Given the description of an element on the screen output the (x, y) to click on. 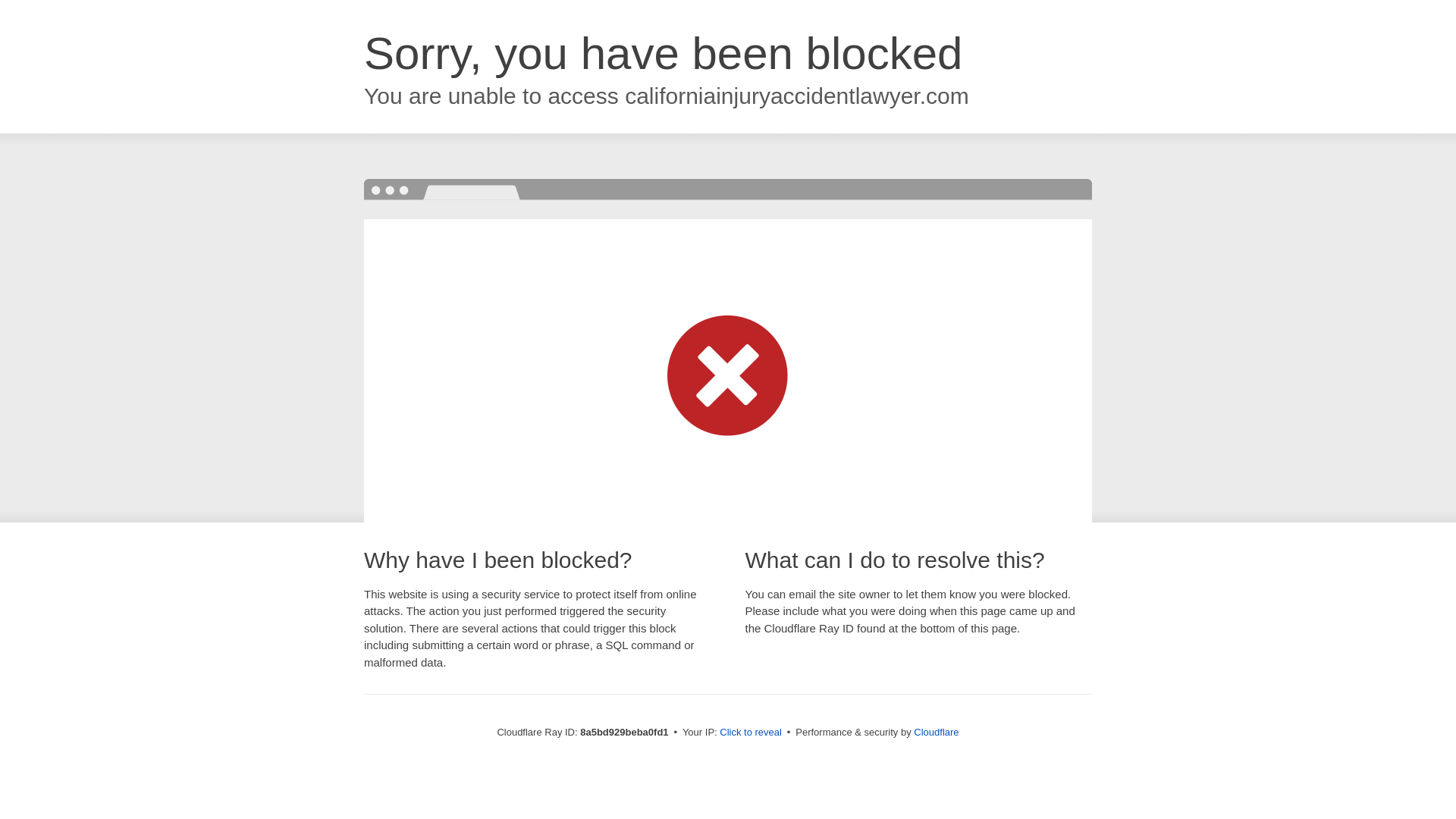
Click to reveal (750, 732)
Cloudflare (936, 731)
